Given the description of an element on the screen output the (x, y) to click on. 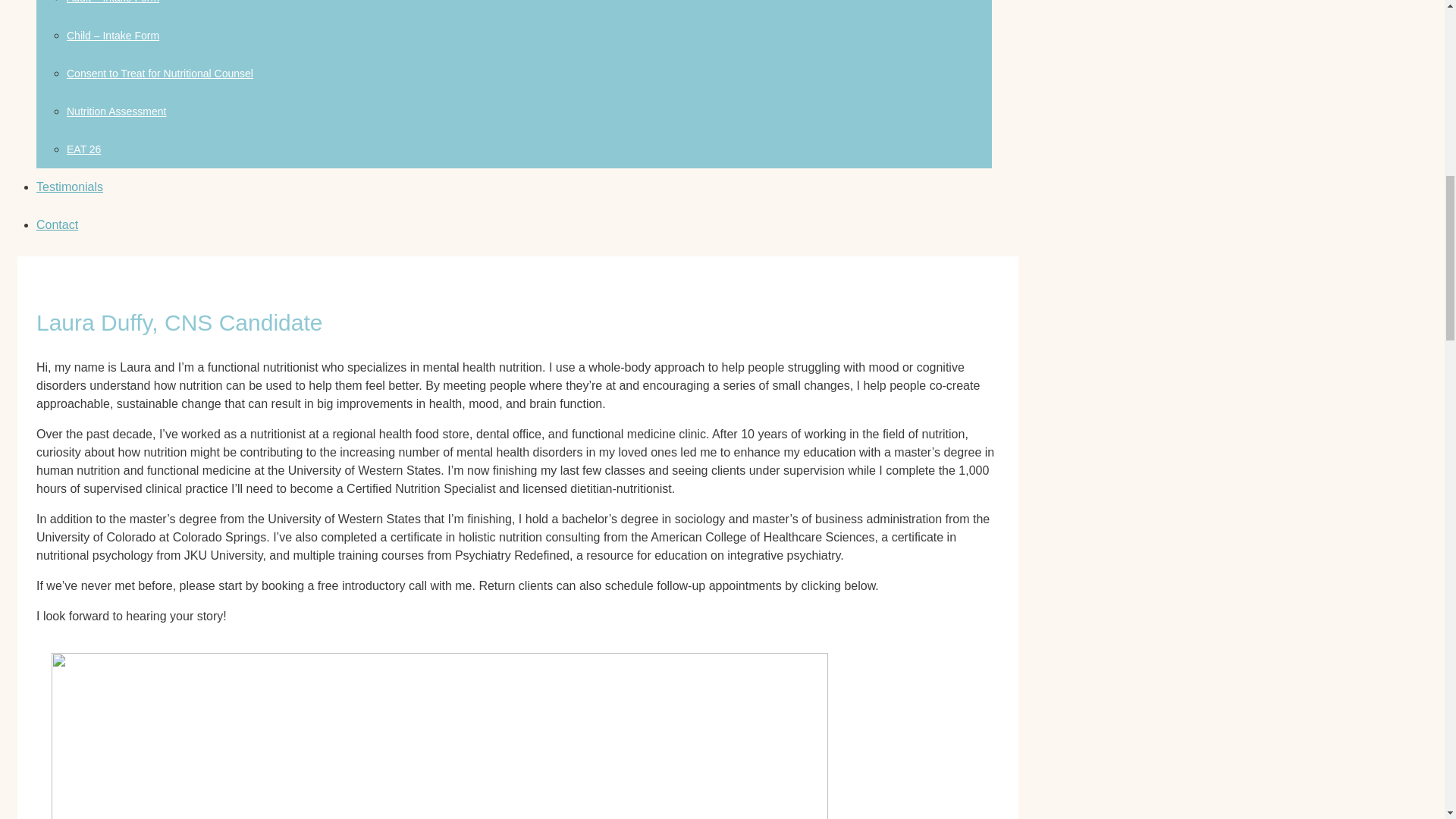
Nutrition Assessment (116, 111)
EAT 26 (83, 149)
Consent to Treat for Nutritional Counsel (159, 73)
Testimonials (69, 186)
Contact (57, 224)
